Given the description of an element on the screen output the (x, y) to click on. 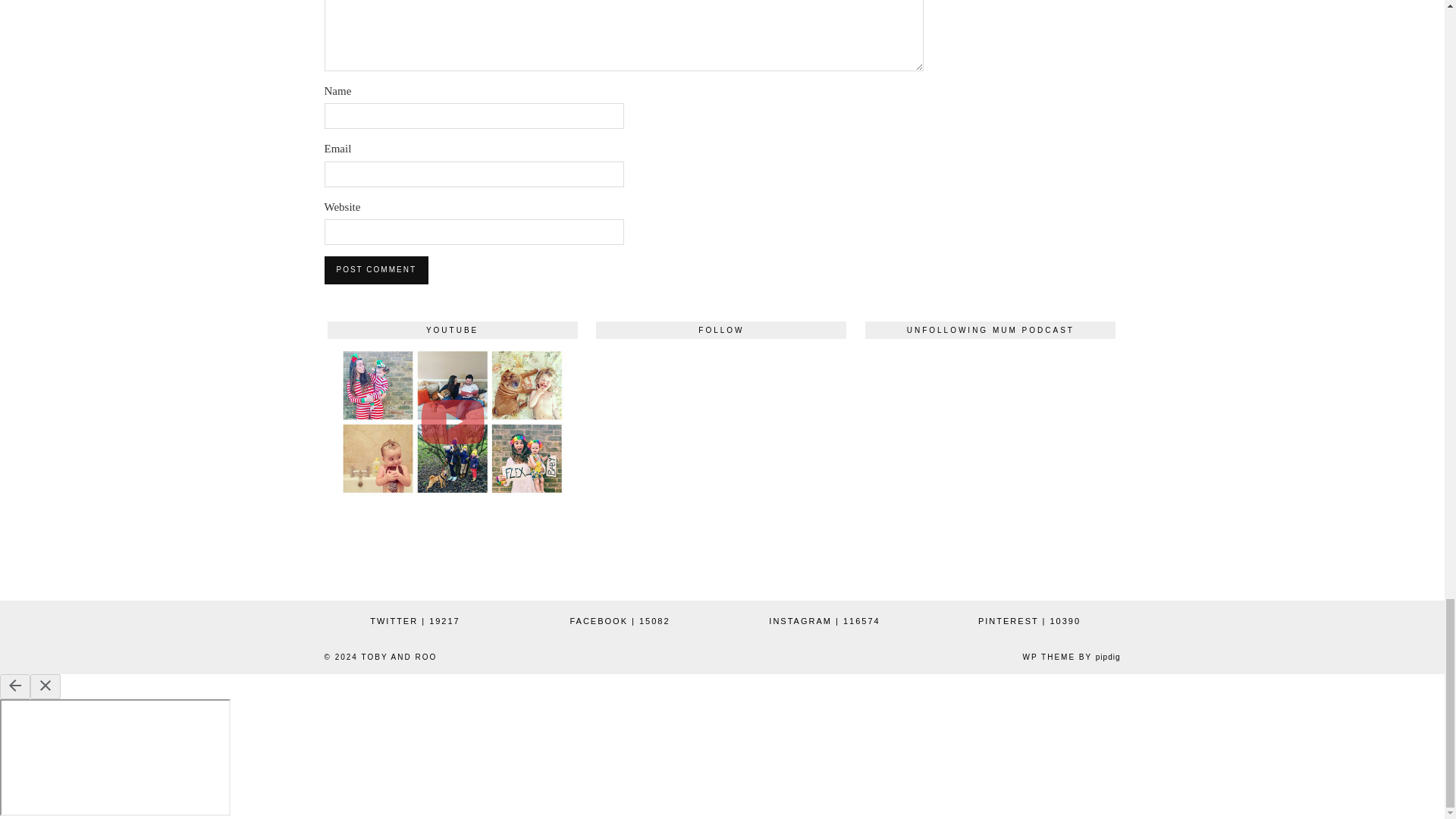
Post Comment (376, 269)
